Given the description of an element on the screen output the (x, y) to click on. 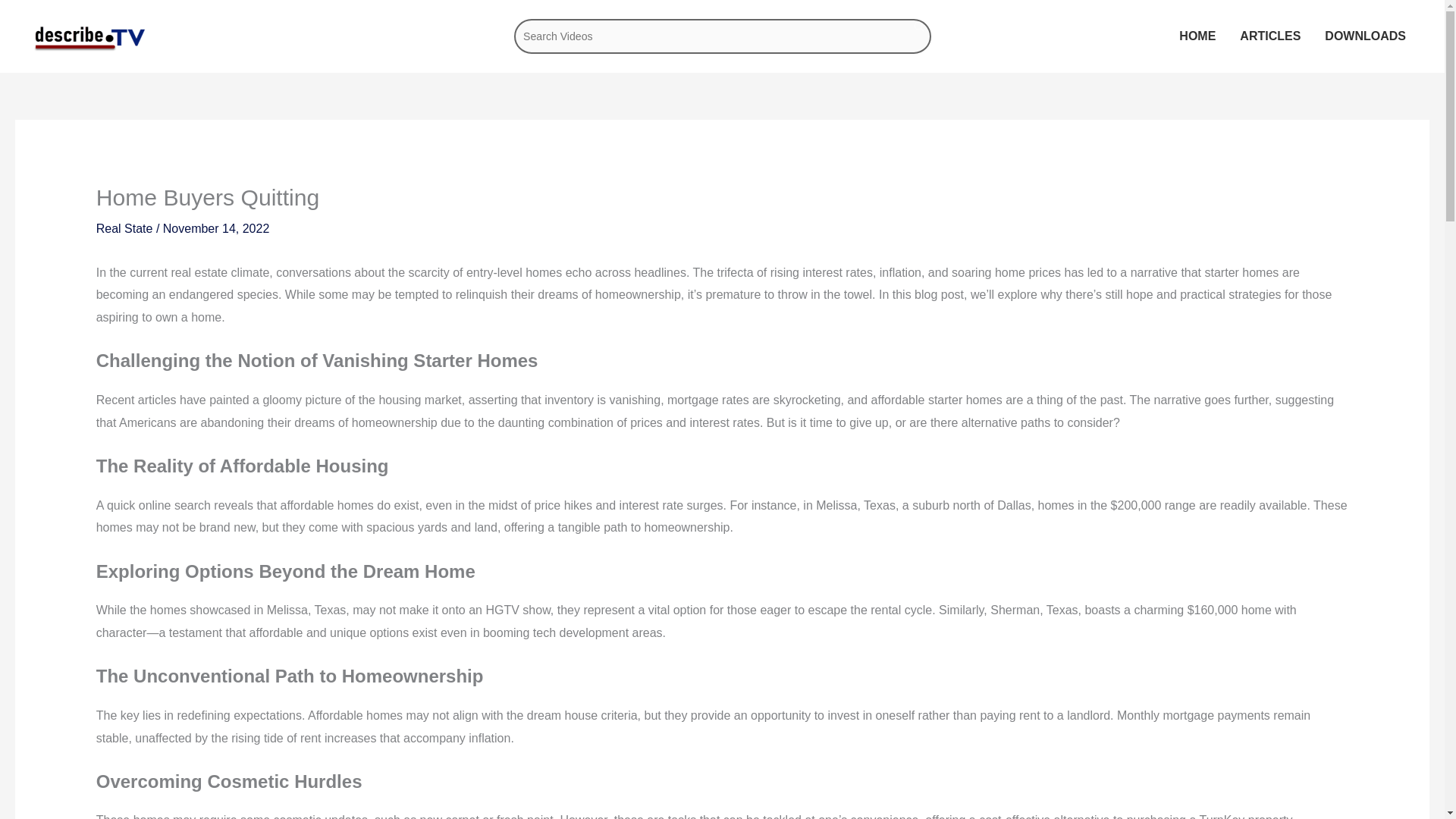
ARTICLES (1270, 36)
HOME (1197, 36)
Real State (124, 228)
DOWNLOADS (1365, 36)
